Given the description of an element on the screen output the (x, y) to click on. 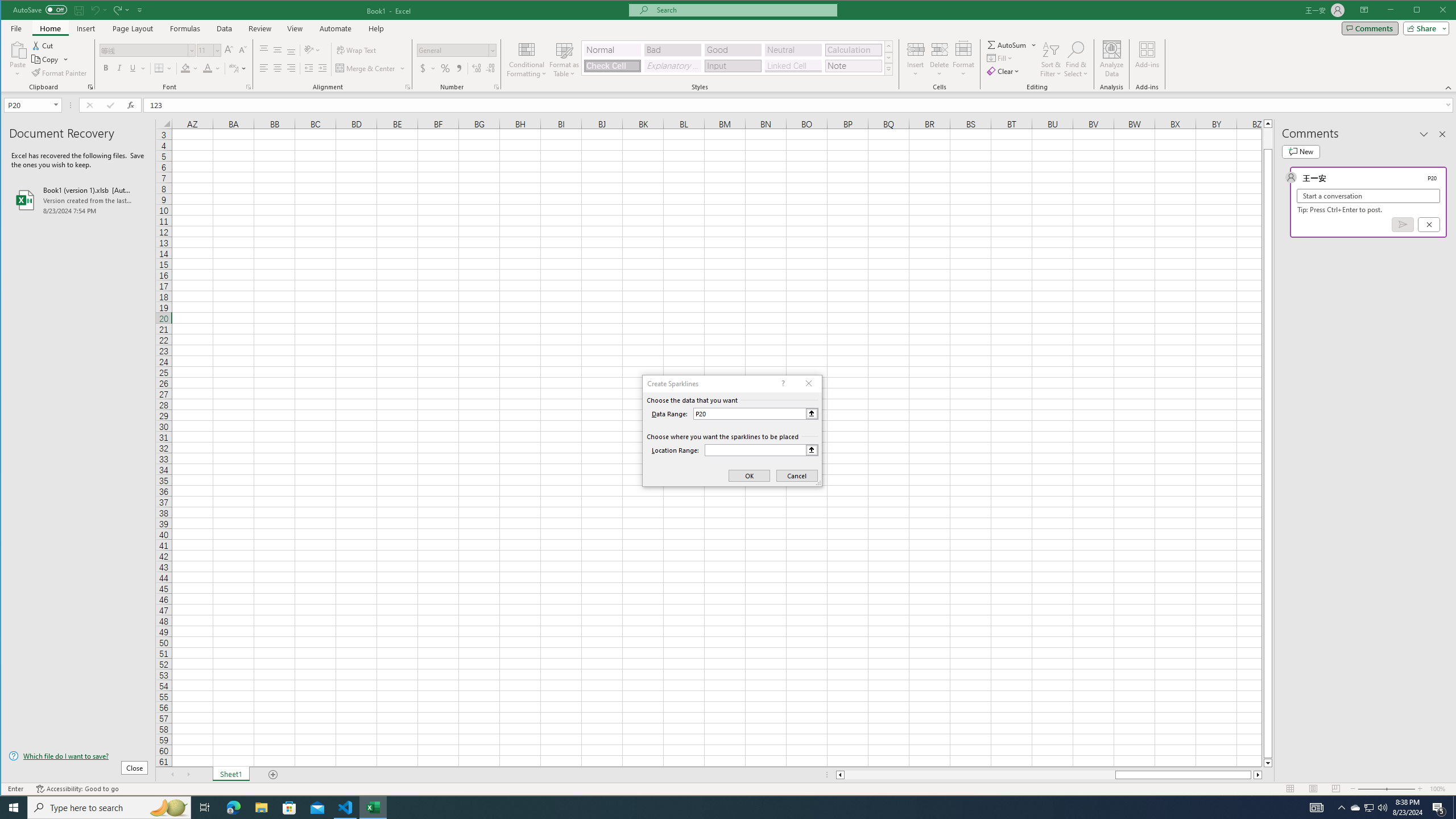
Copy (50, 59)
Show Phonetic Field (233, 68)
Bottom Align (291, 49)
Paste (17, 48)
Font Size (205, 50)
Underline (132, 68)
Show Phonetic Field (237, 68)
